Given the description of an element on the screen output the (x, y) to click on. 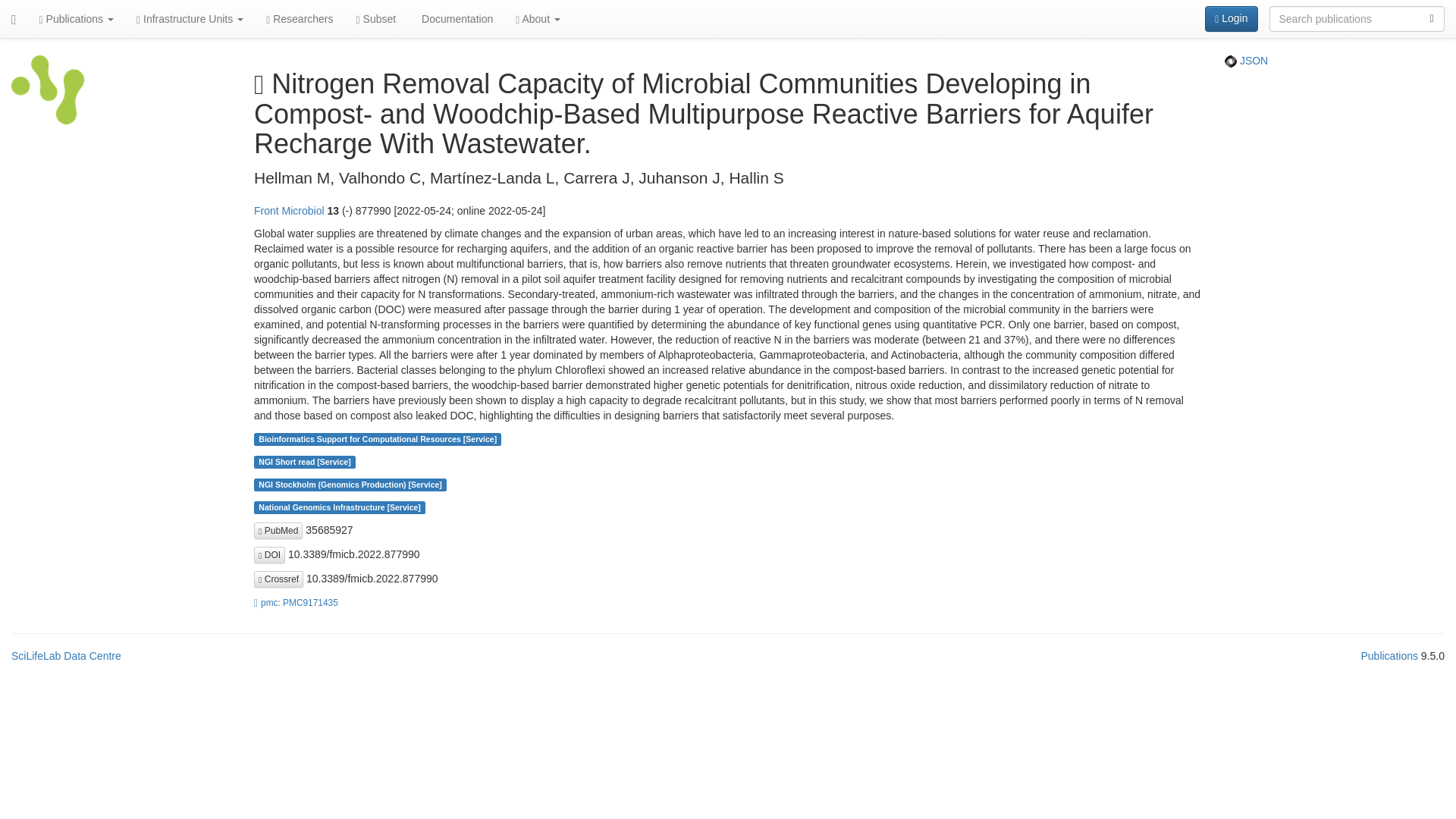
Subset (376, 18)
Researchers (298, 18)
Infrastructure Units (189, 18)
DOI (269, 555)
PubMed (277, 530)
About (537, 18)
JSON (1246, 60)
Publications (76, 18)
Login (1231, 18)
Front Microbiol (288, 210)
SciLifeLab Infrastructure Units Publications (47, 94)
Documentation (455, 18)
